Given the description of an element on the screen output the (x, y) to click on. 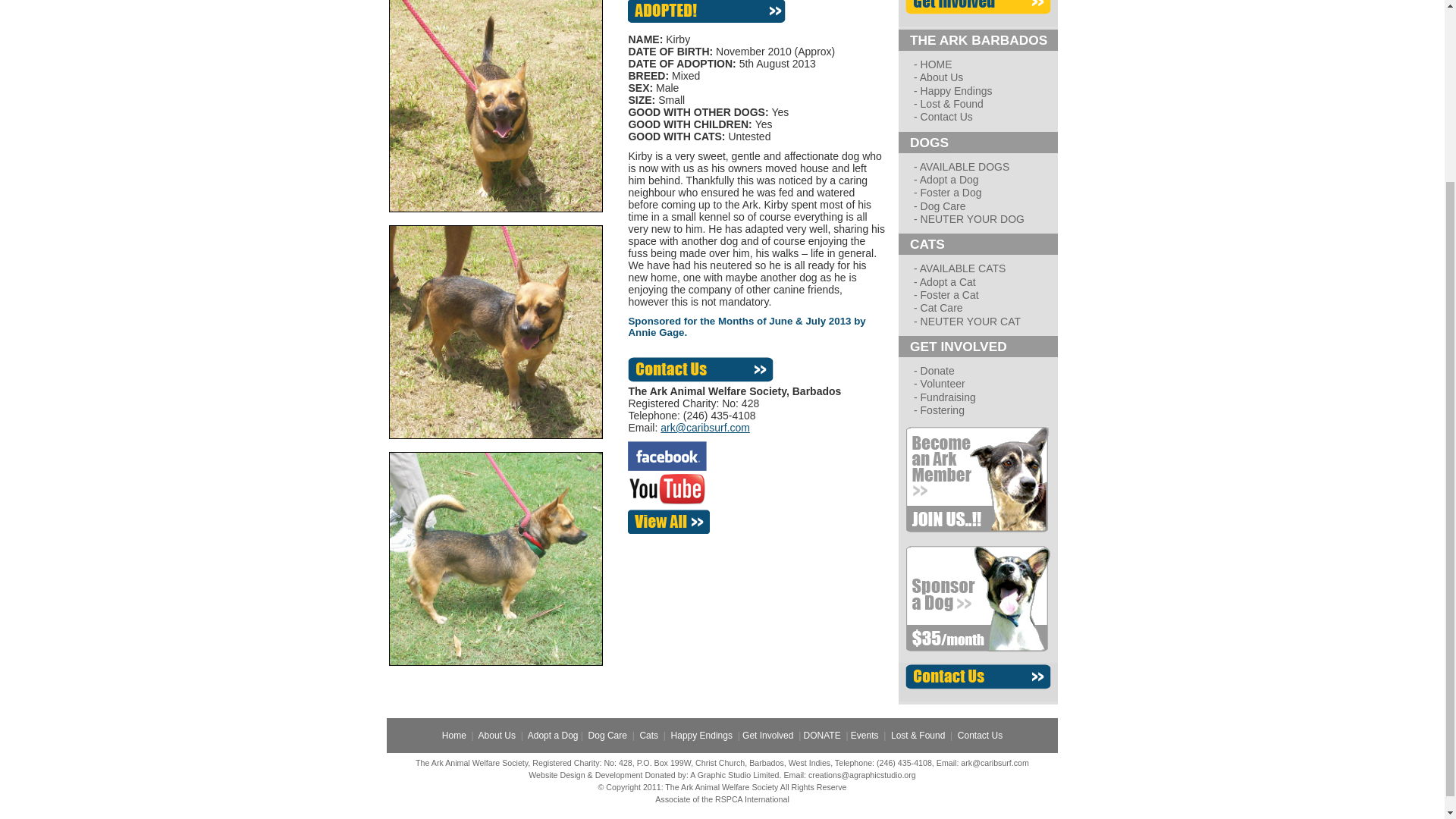
Email Us (705, 427)
Please Adopt Me - URGENT (707, 11)
The Ark Animal Welfare Society, Barbados (703, 364)
